Given the description of an element on the screen output the (x, y) to click on. 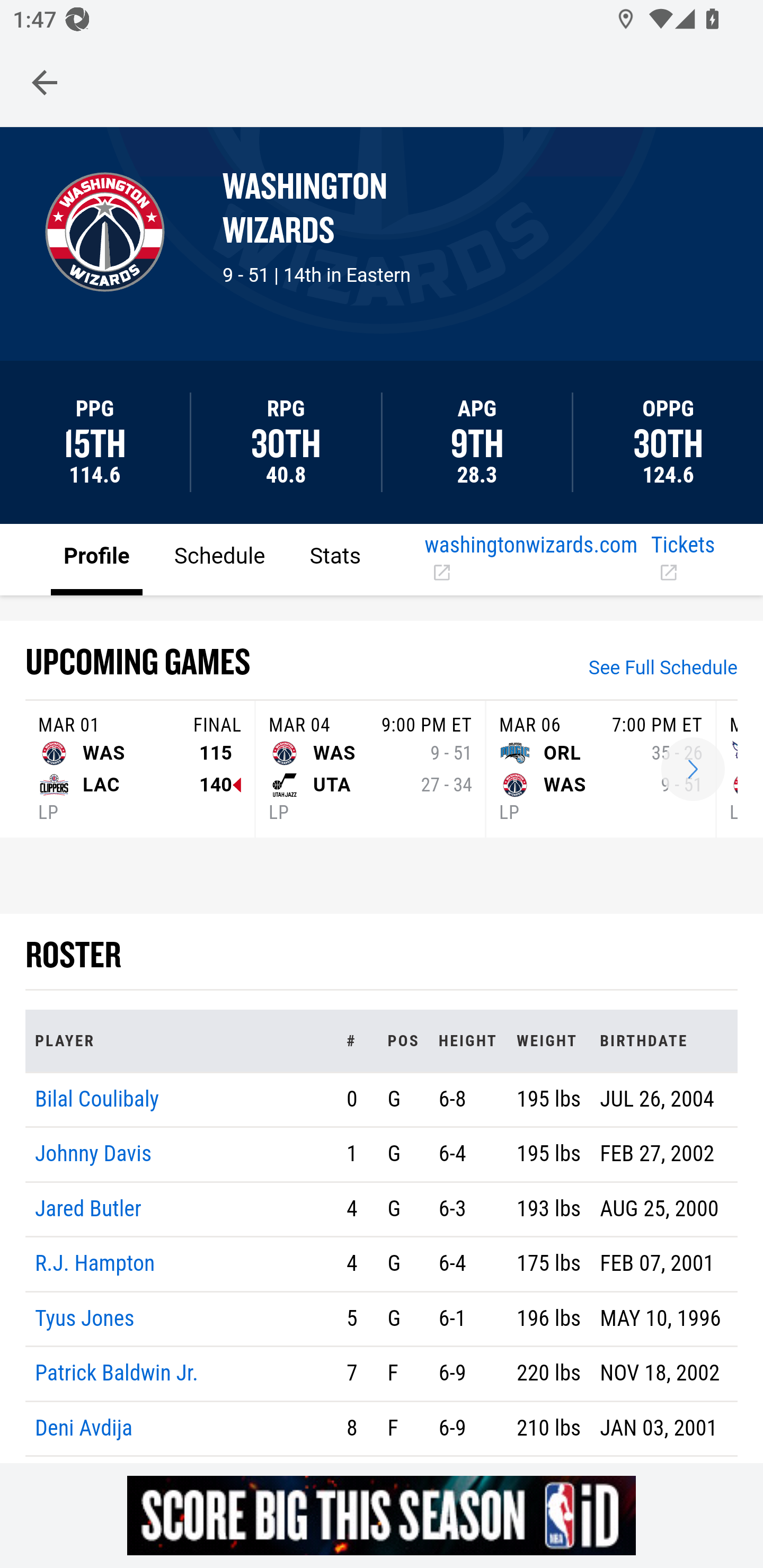
Navigate up (44, 82)
Profile (97, 558)
Schedule (219, 558)
Stats (335, 558)
washingtonwizards.com (531, 559)
Tickets (690, 559)
See Full Schedule (662, 669)
Match-up Scores (692, 769)
Bilal Coulibaly (97, 1098)
Johnny Davis (93, 1154)
Jared Butler (88, 1207)
R.J. Hampton (95, 1264)
Tyus Jones (85, 1317)
Patrick Baldwin Jr. (116, 1374)
Deni Avdija (84, 1427)
